Given the description of an element on the screen output the (x, y) to click on. 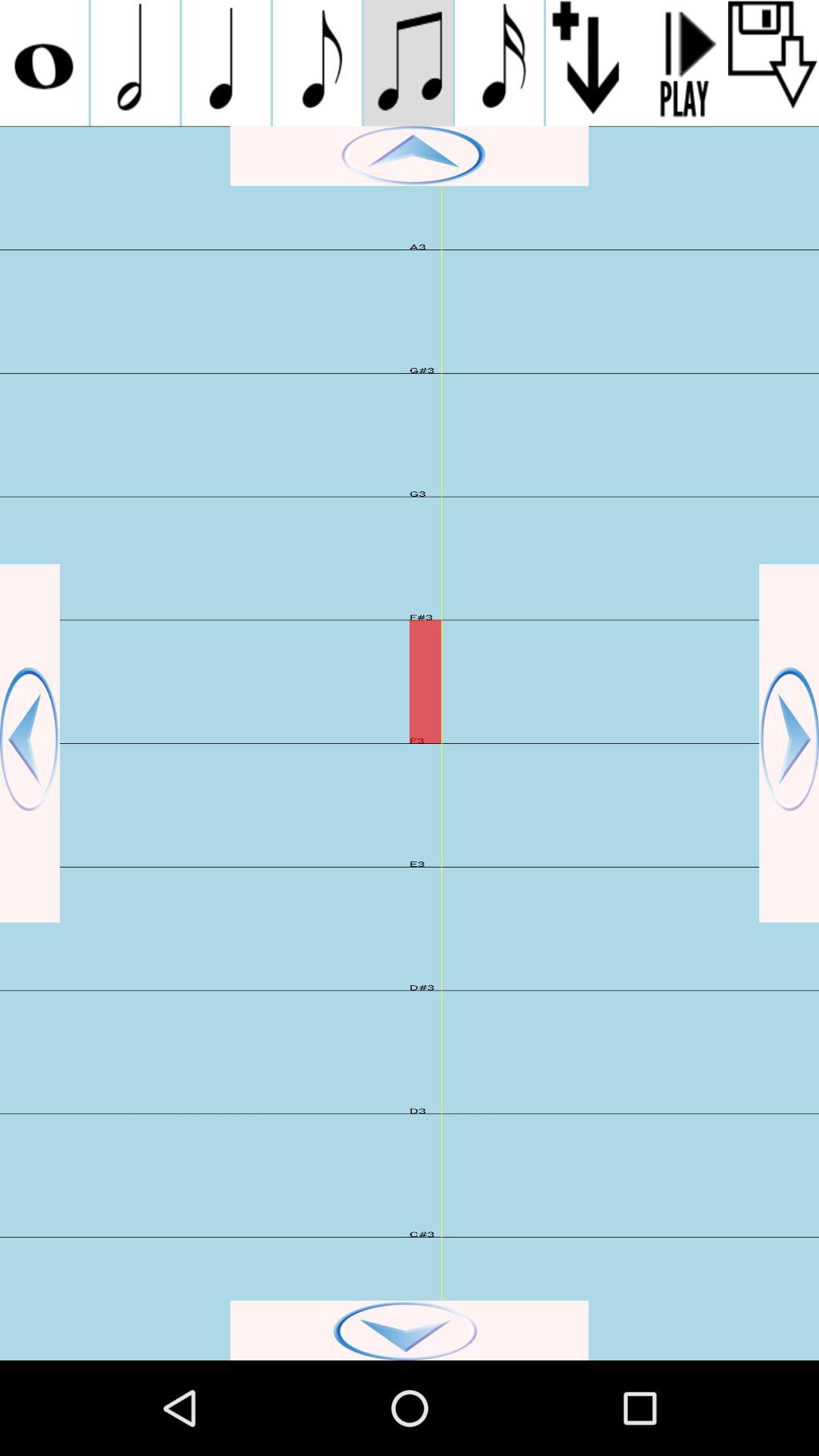
scroll back (29, 742)
